Given the description of an element on the screen output the (x, y) to click on. 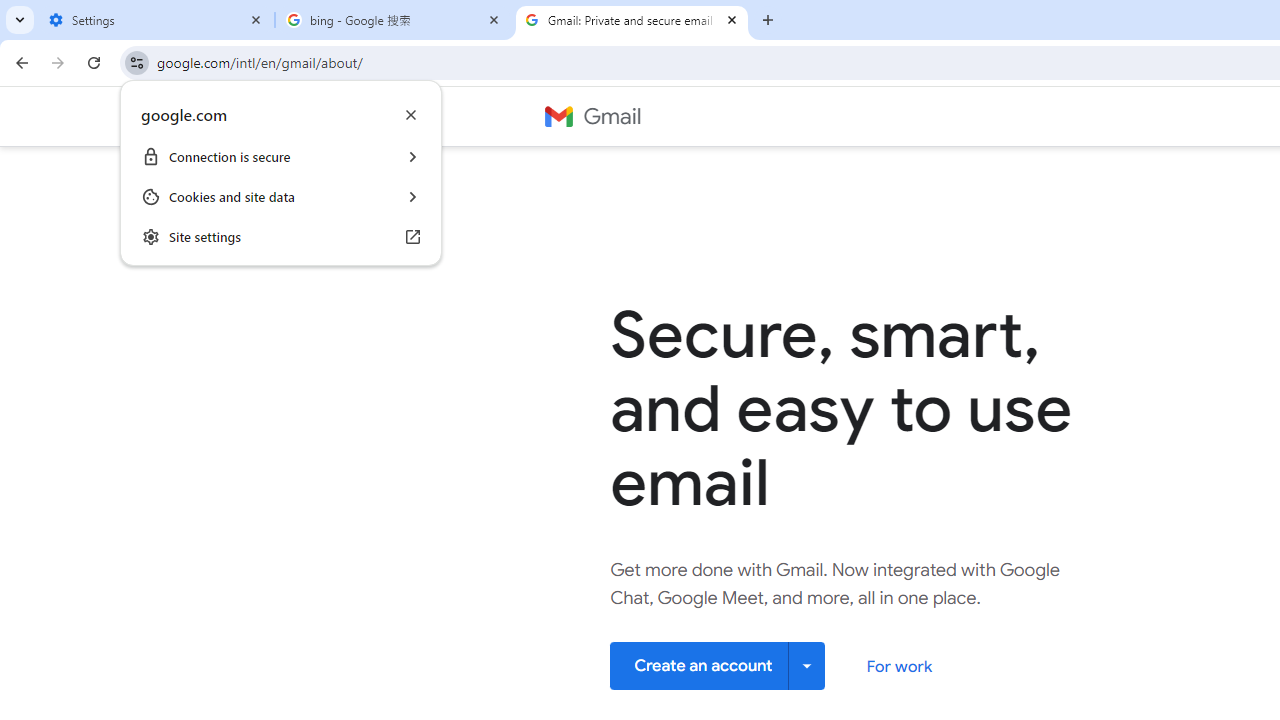
Gmail (592, 116)
Cookies and site data  (281, 196)
